Given the description of an element on the screen output the (x, y) to click on. 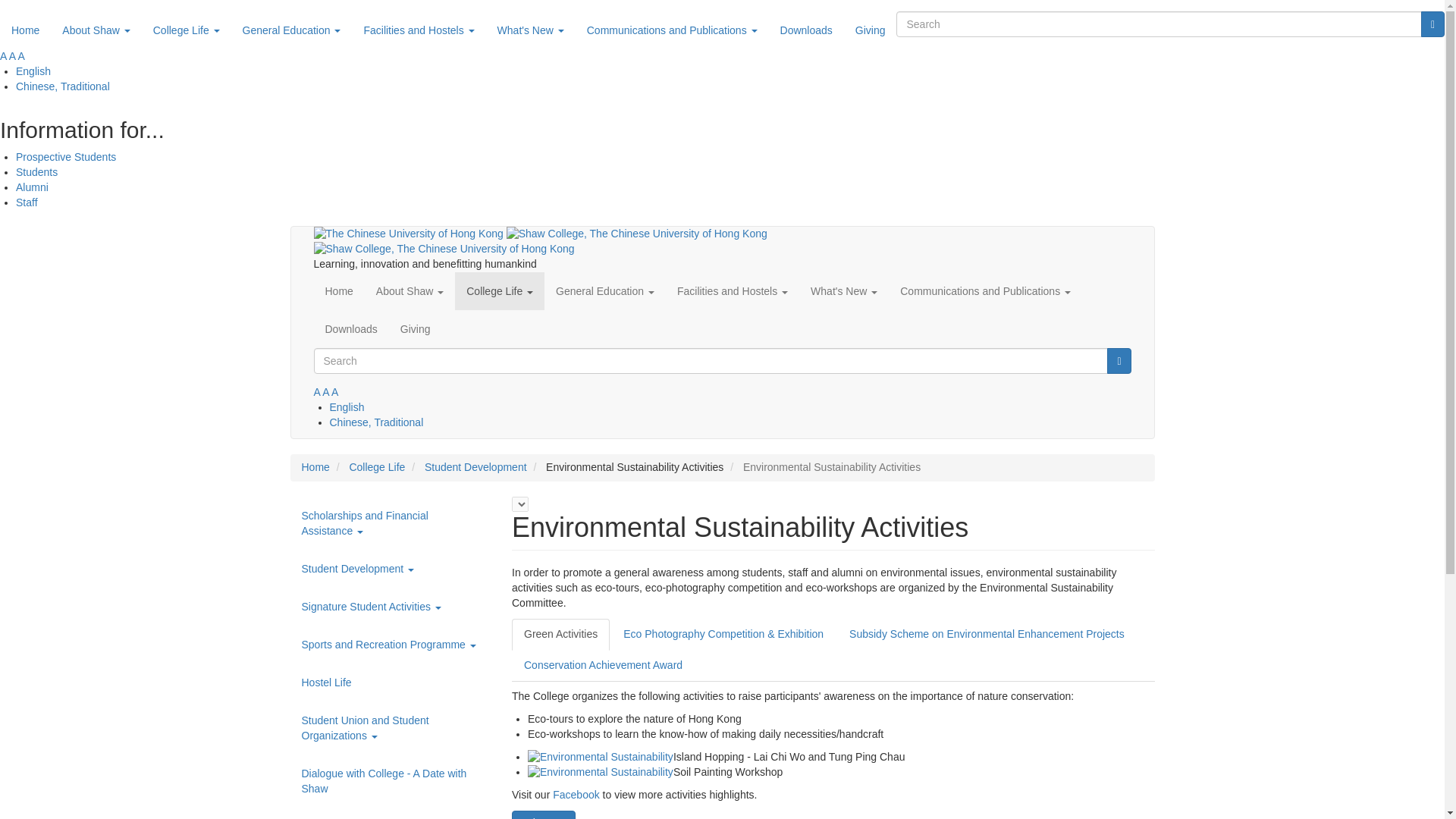
About Shaw (95, 30)
Home (25, 30)
College Life (186, 30)
Enter the terms you wish to search for. (711, 360)
Home (636, 233)
Home (444, 248)
Enter the terms you wish to search for. (1158, 23)
